Given the description of an element on the screen output the (x, y) to click on. 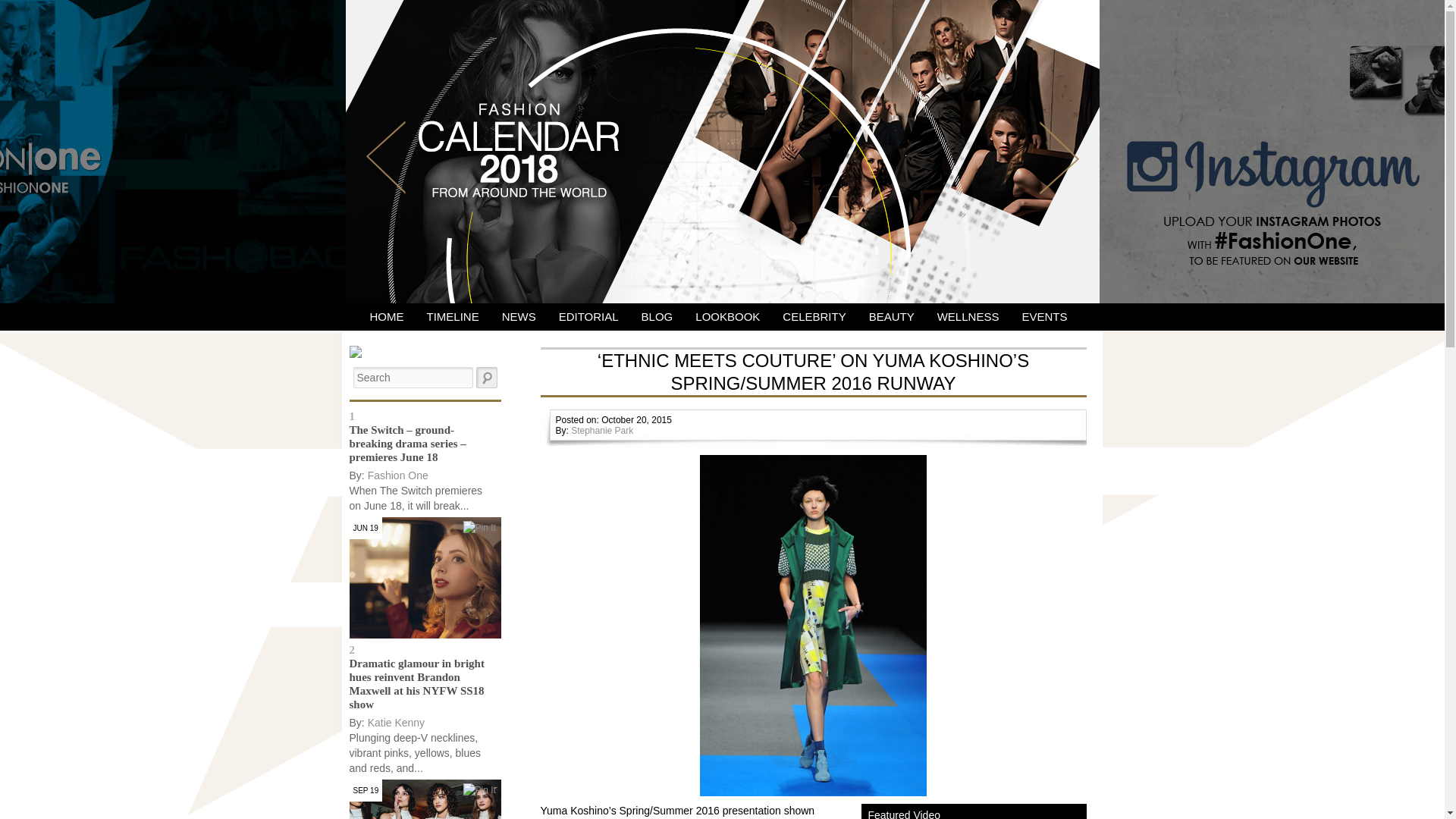
NEWS (518, 316)
LOOKBOOK (727, 316)
EVENTS (1044, 316)
WELLNESS (968, 316)
BEAUTY (891, 316)
Pin It (479, 528)
Katie Kenny (396, 722)
Fashion One (398, 475)
BLOG (657, 316)
